Given the description of an element on the screen output the (x, y) to click on. 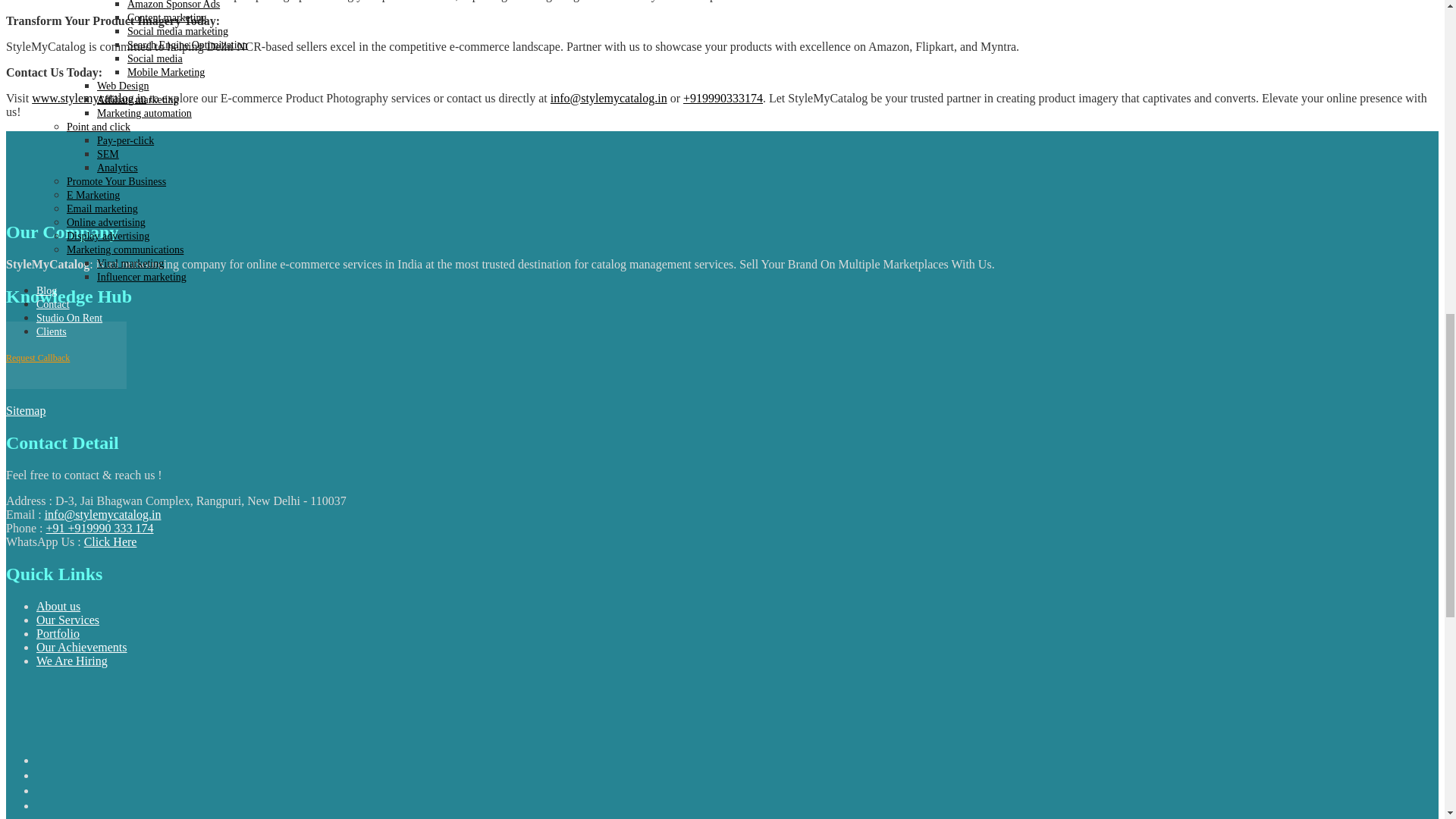
Content marketing (167, 17)
Amazon Sponsor Ads (173, 4)
Social media marketing (178, 30)
Search Engine Optimization (187, 44)
